Given the description of an element on the screen output the (x, y) to click on. 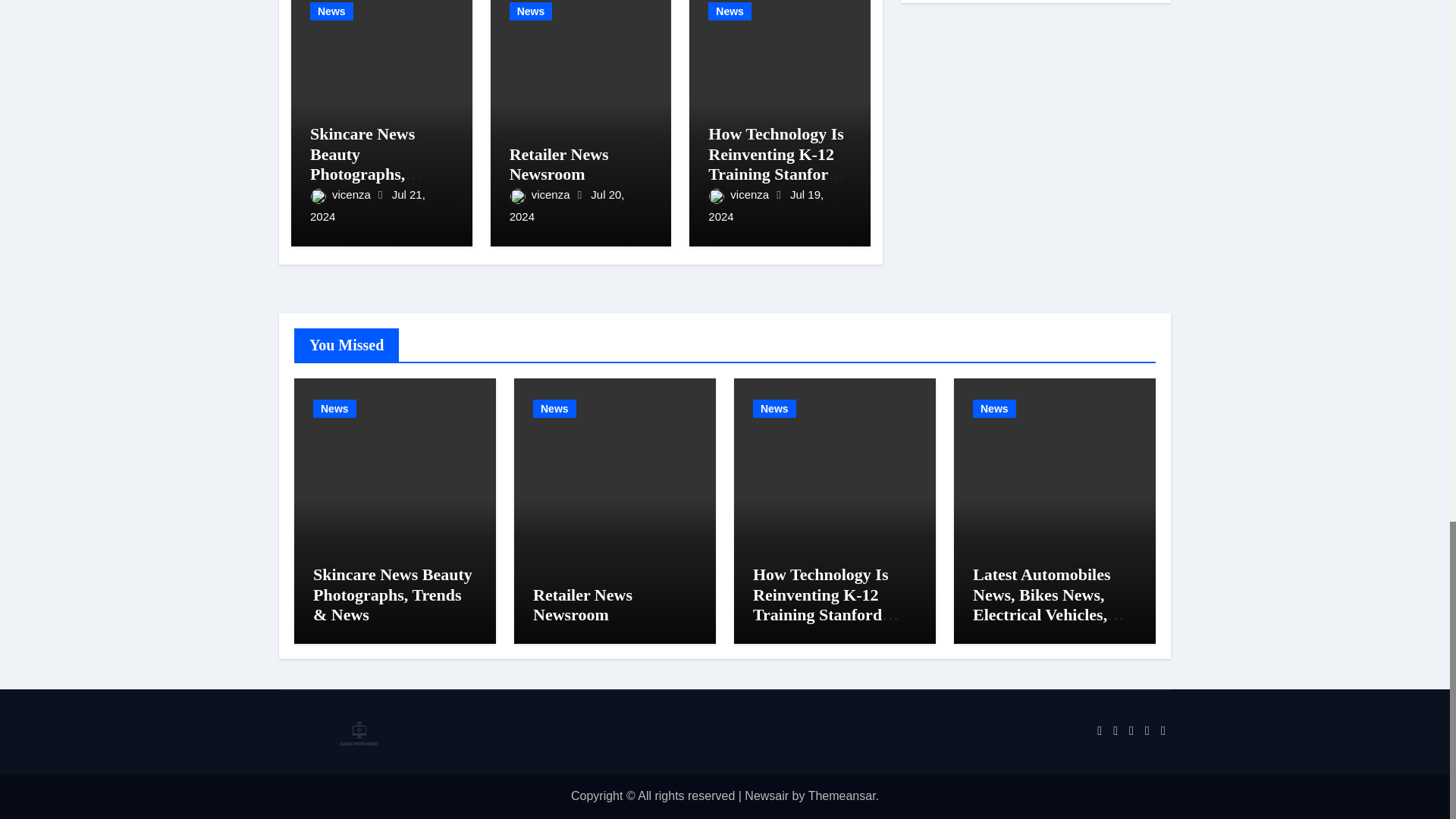
Permalink to: Retailer News Newsroom (581, 604)
Permalink to: Retailer News Newsroom (558, 163)
